Given the description of an element on the screen output the (x, y) to click on. 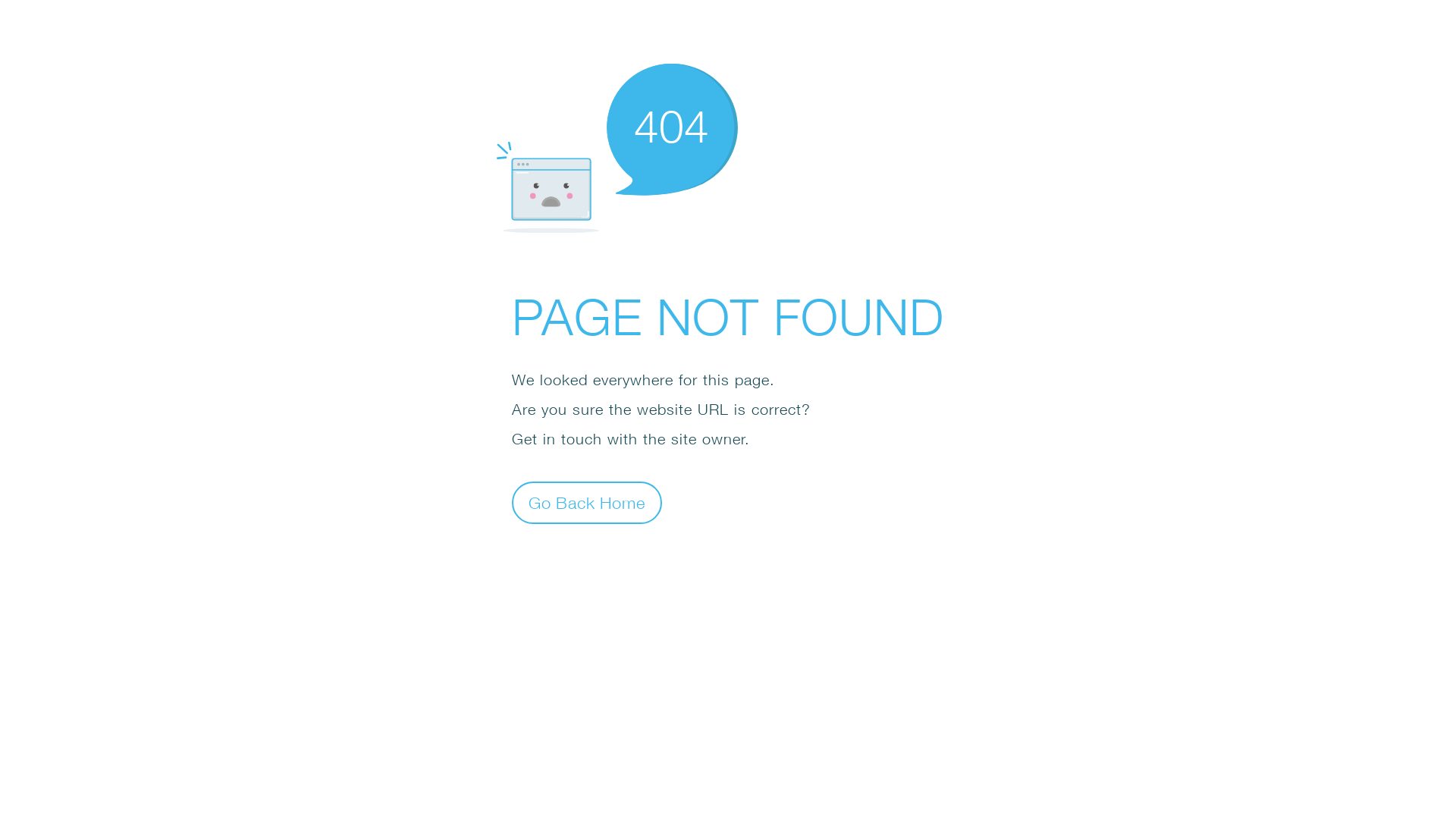
Go Back Home Element type: text (586, 502)
